Given the description of an element on the screen output the (x, y) to click on. 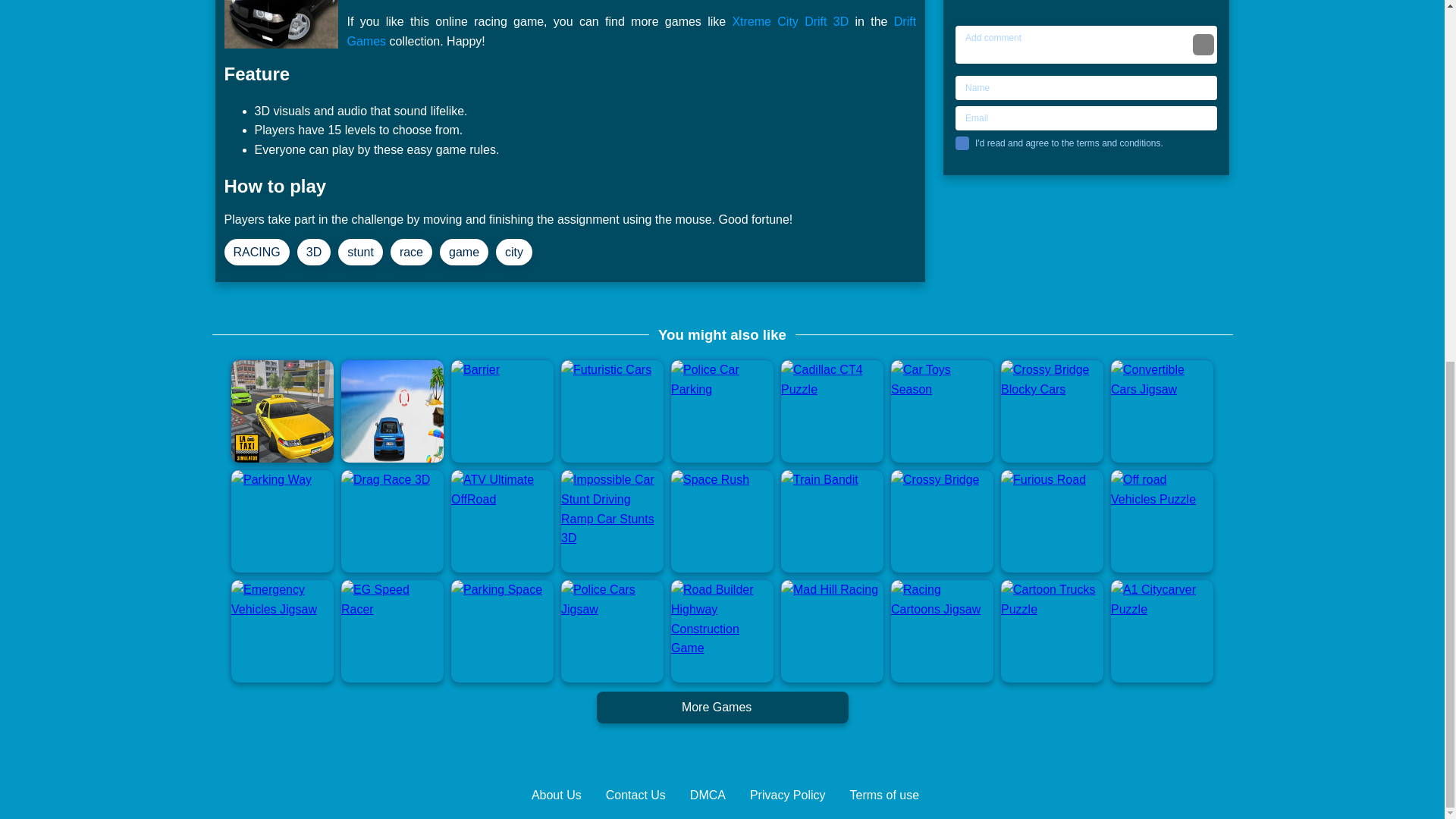
3D (313, 252)
stunt (359, 252)
Xtreme City Drift 3D (790, 21)
About Us (555, 794)
Drift Games (632, 31)
Privacy Policy (787, 794)
game (463, 252)
city (514, 252)
RACING (256, 252)
Contact Us (635, 794)
race (411, 252)
Terms of use (885, 794)
Be the first to comment (1089, 1)
DMCA (707, 794)
